Given the description of an element on the screen output the (x, y) to click on. 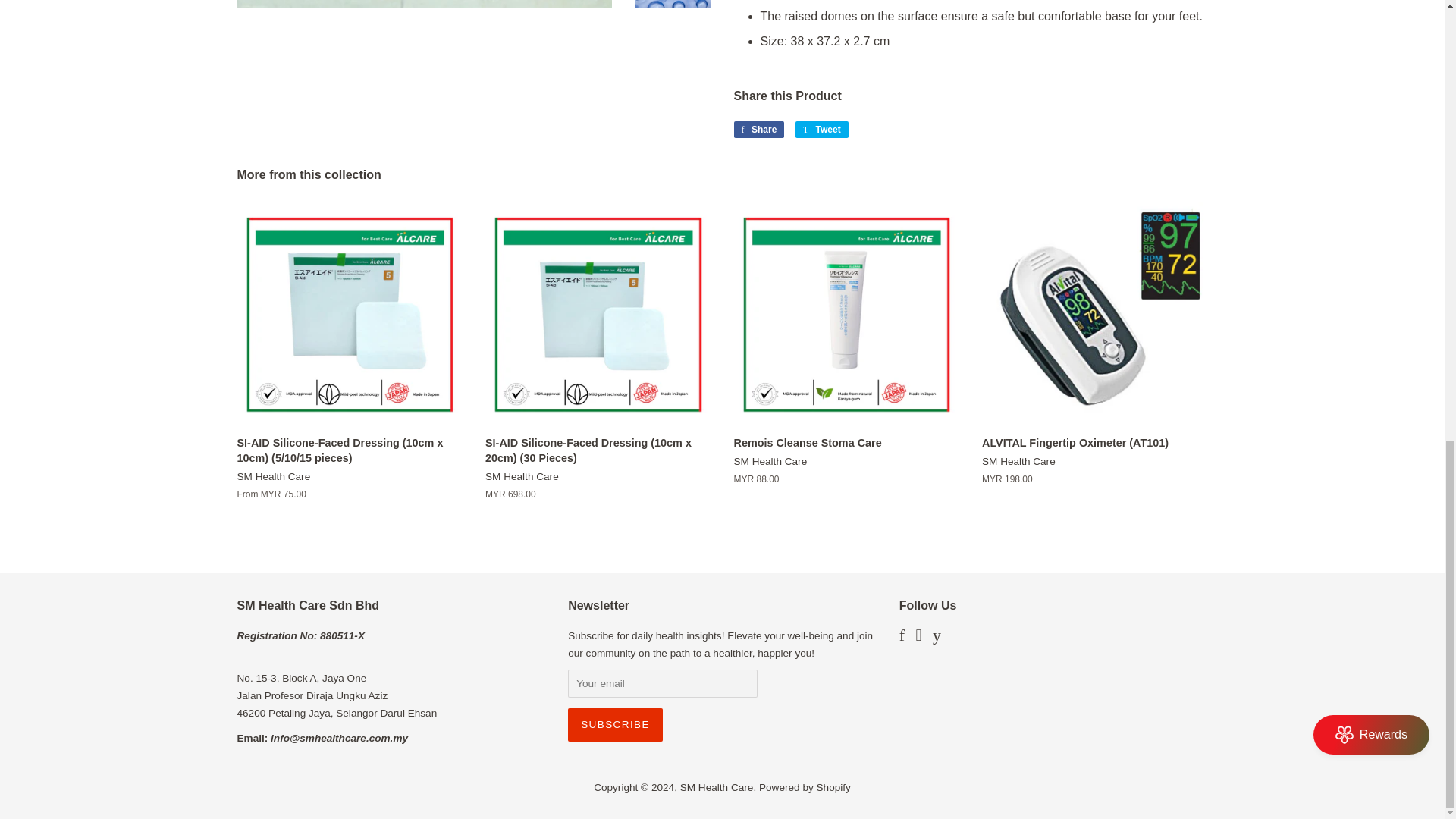
Subscribe (614, 725)
SM Health Care on Instagram (918, 636)
Tweet on Twitter (821, 129)
SM Health Care on Facebook (901, 636)
SM Health Care on YouTube (936, 636)
Share on Facebook (758, 129)
